Given the description of an element on the screen output the (x, y) to click on. 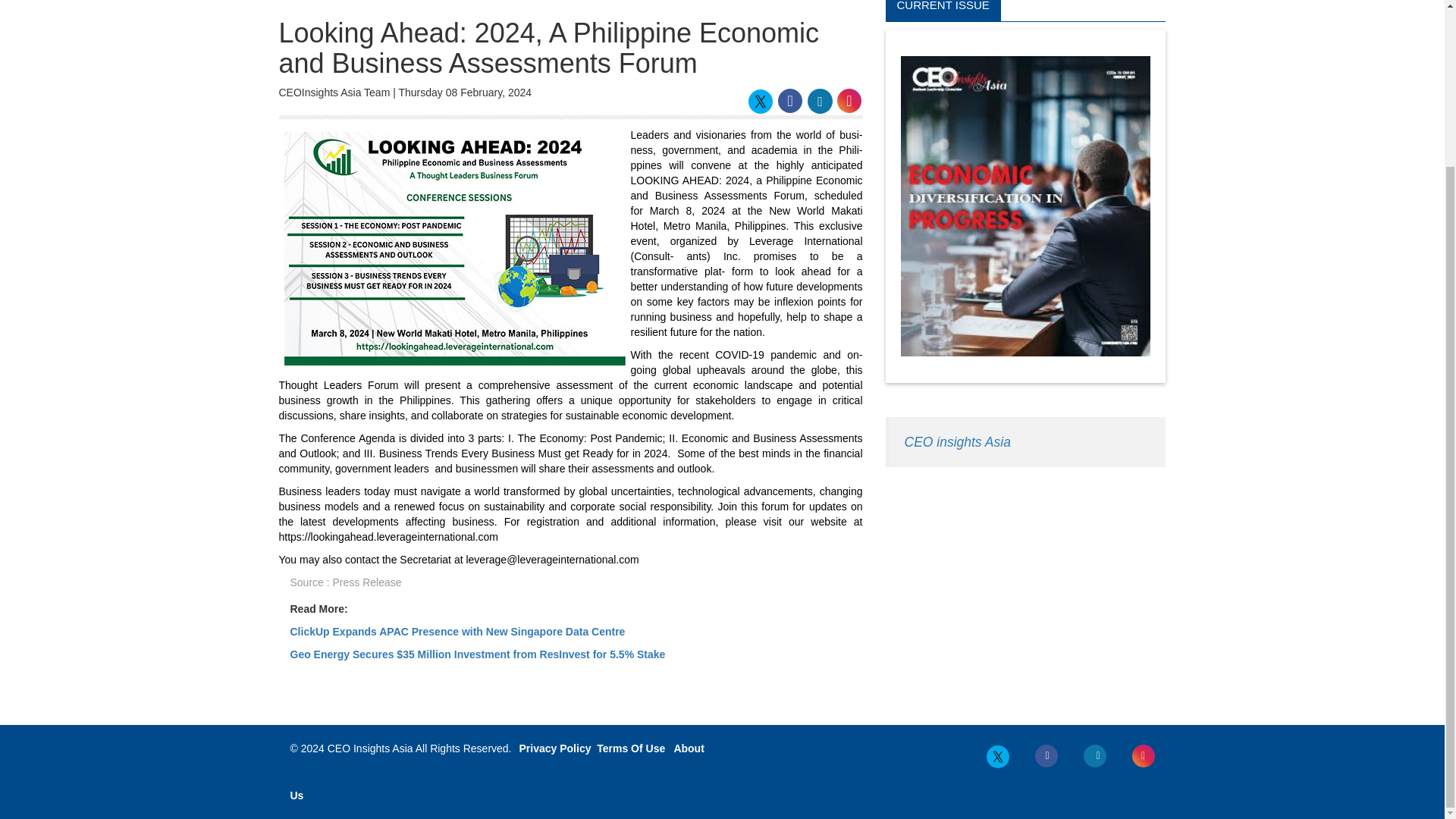
About Us (496, 771)
ClickUp Expands APAC Presence with New Singapore Data Centre (456, 631)
CEO insights Asia (957, 441)
Privacy Policy (555, 748)
Terms Of Use (630, 748)
Advertisement (1025, 588)
